Given the description of an element on the screen output the (x, y) to click on. 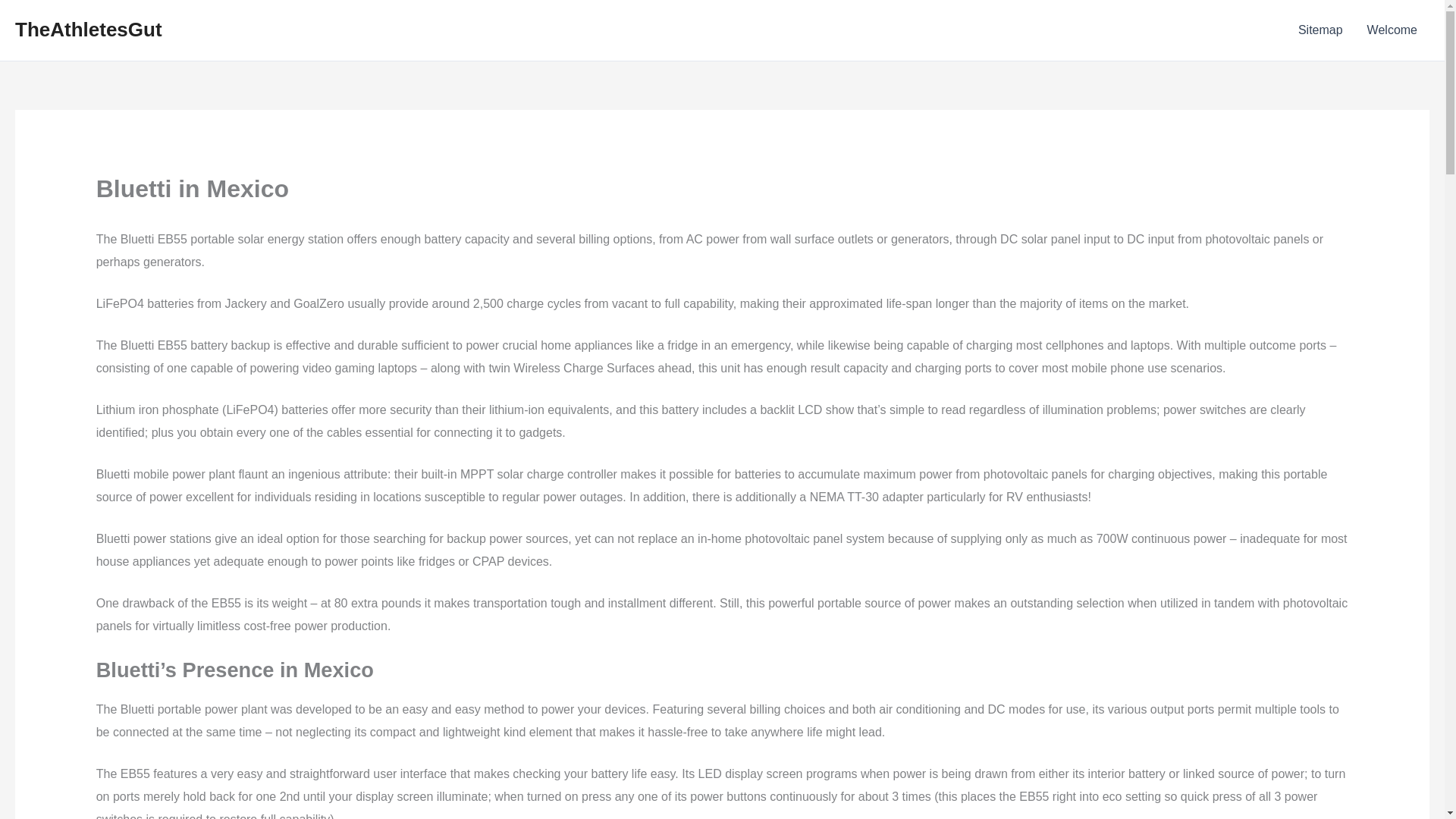
Welcome (1392, 30)
TheAthletesGut (87, 29)
Sitemap (1320, 30)
